Given the description of an element on the screen output the (x, y) to click on. 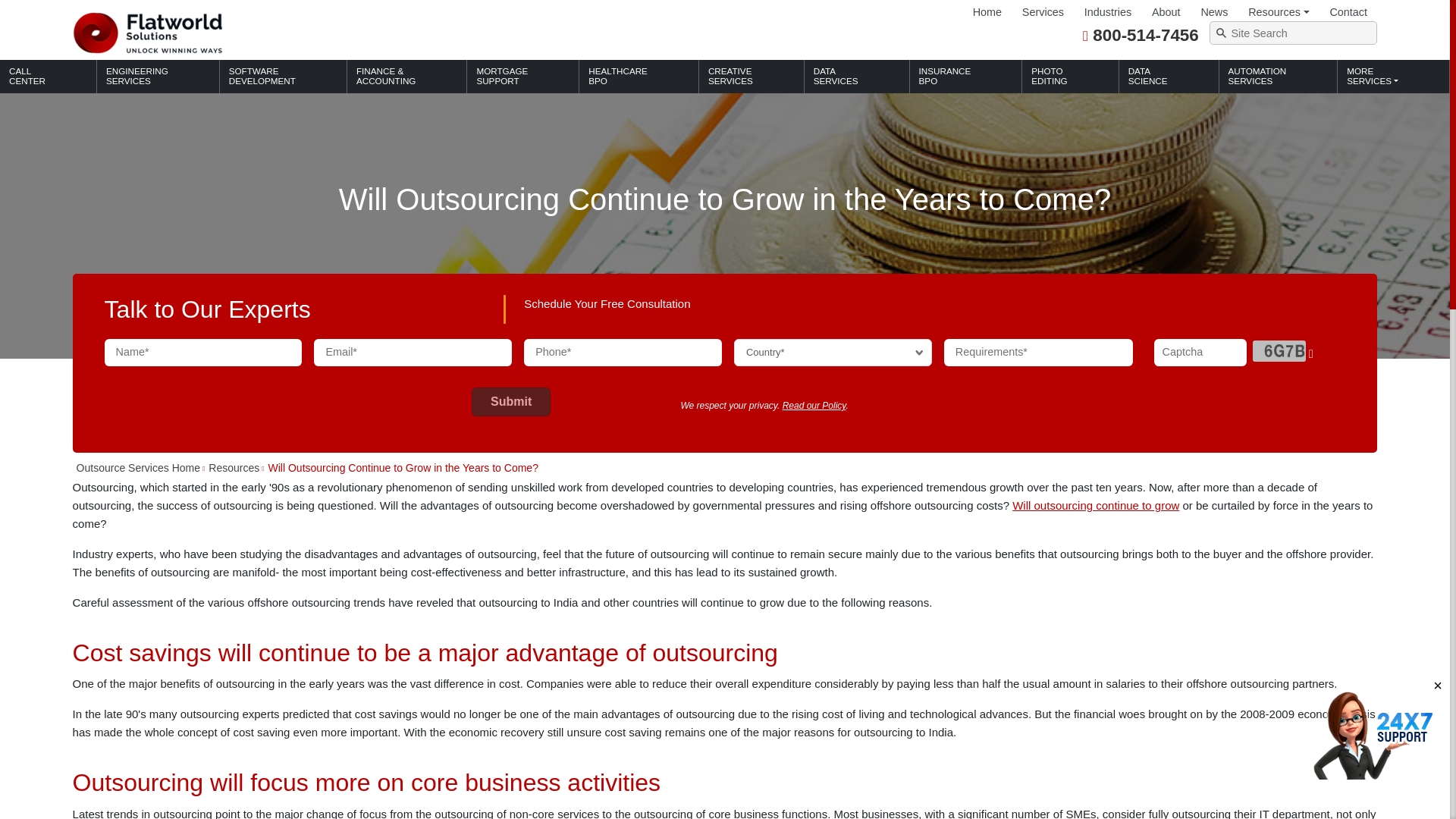
Submit (510, 401)
800-514-7456 (1145, 35)
Services (1042, 11)
Home (987, 11)
